Given the description of an element on the screen output the (x, y) to click on. 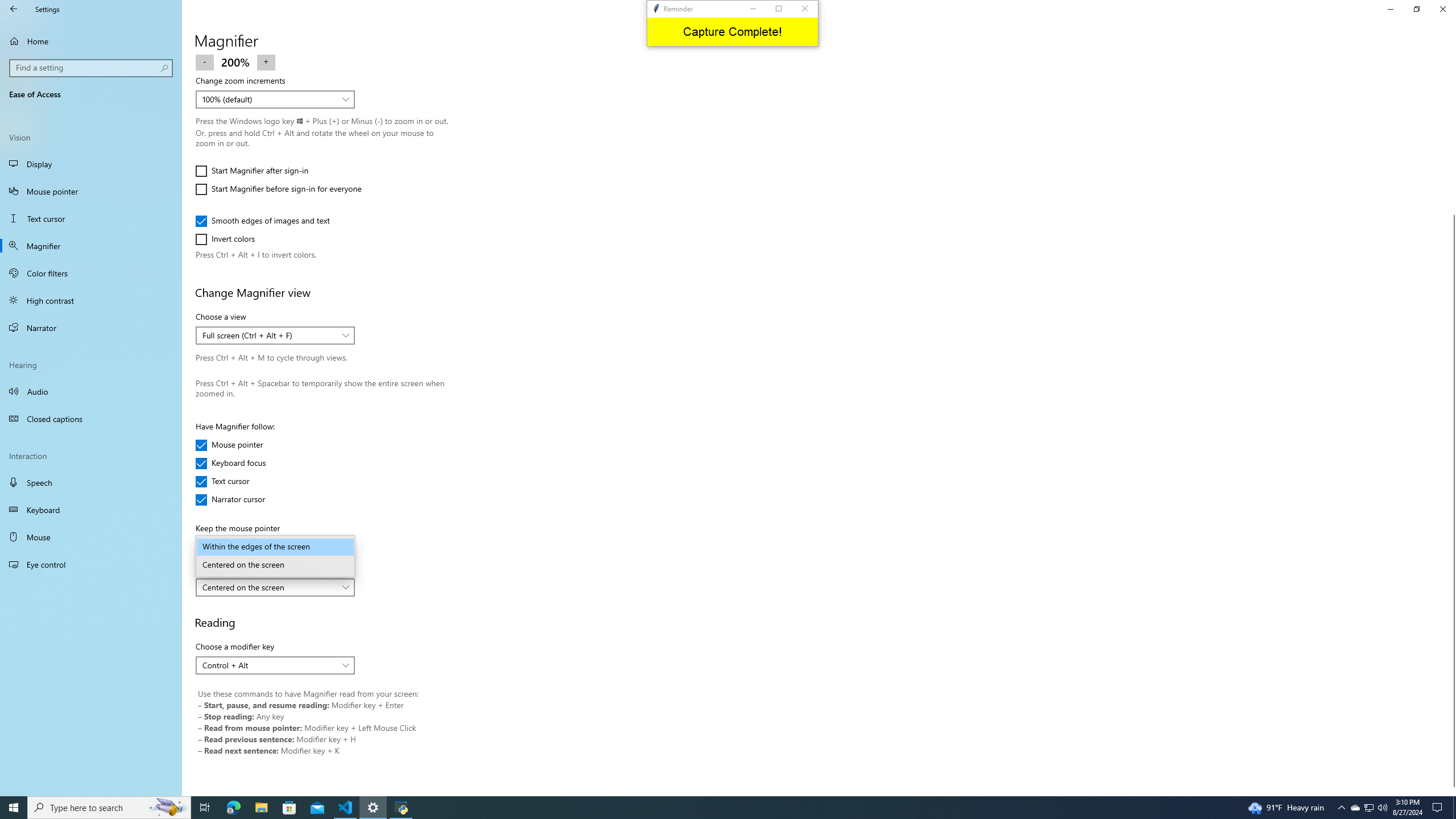
Keyboard (91, 509)
Zoom out (204, 61)
Invert colors (229, 239)
Full screen (Ctrl + Alt + F) (269, 335)
Keyboard focus (230, 463)
Home (91, 40)
Text cursor (229, 481)
Choose a view (275, 335)
Closed captions (91, 418)
Running applications (717, 807)
Close Settings (1442, 9)
Keep the text cursor (275, 587)
